Given the description of an element on the screen output the (x, y) to click on. 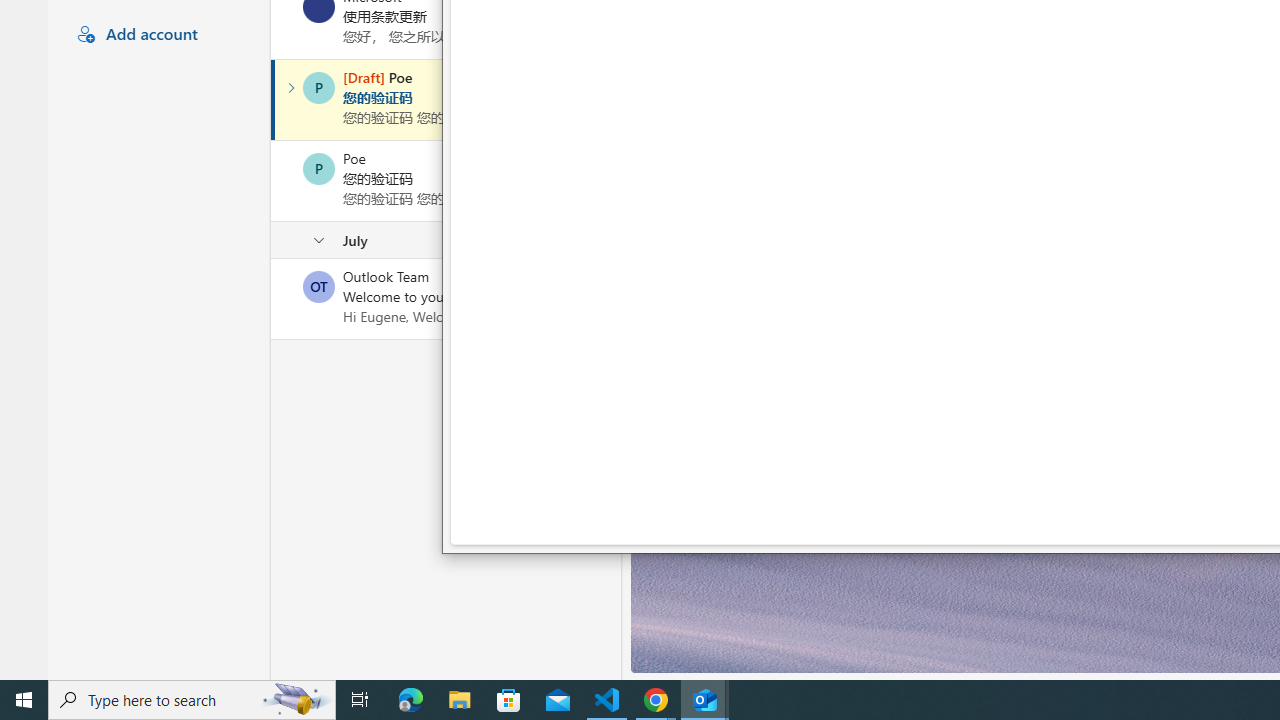
Google Chrome - 3 running windows (656, 699)
File Explorer (460, 699)
Task View (359, 699)
Select a conversation (319, 286)
Start (24, 699)
Mark as read (273, 99)
Poe (319, 168)
Type here to search (191, 699)
Outlook (new) - 2 running windows (704, 699)
Search highlights icon opens search home window (295, 699)
Mark as unread (273, 299)
Visual Studio Code - 1 running window (607, 699)
Microsoft Store (509, 699)
Microsoft Edge (411, 699)
Outlook Team (319, 286)
